Given the description of an element on the screen output the (x, y) to click on. 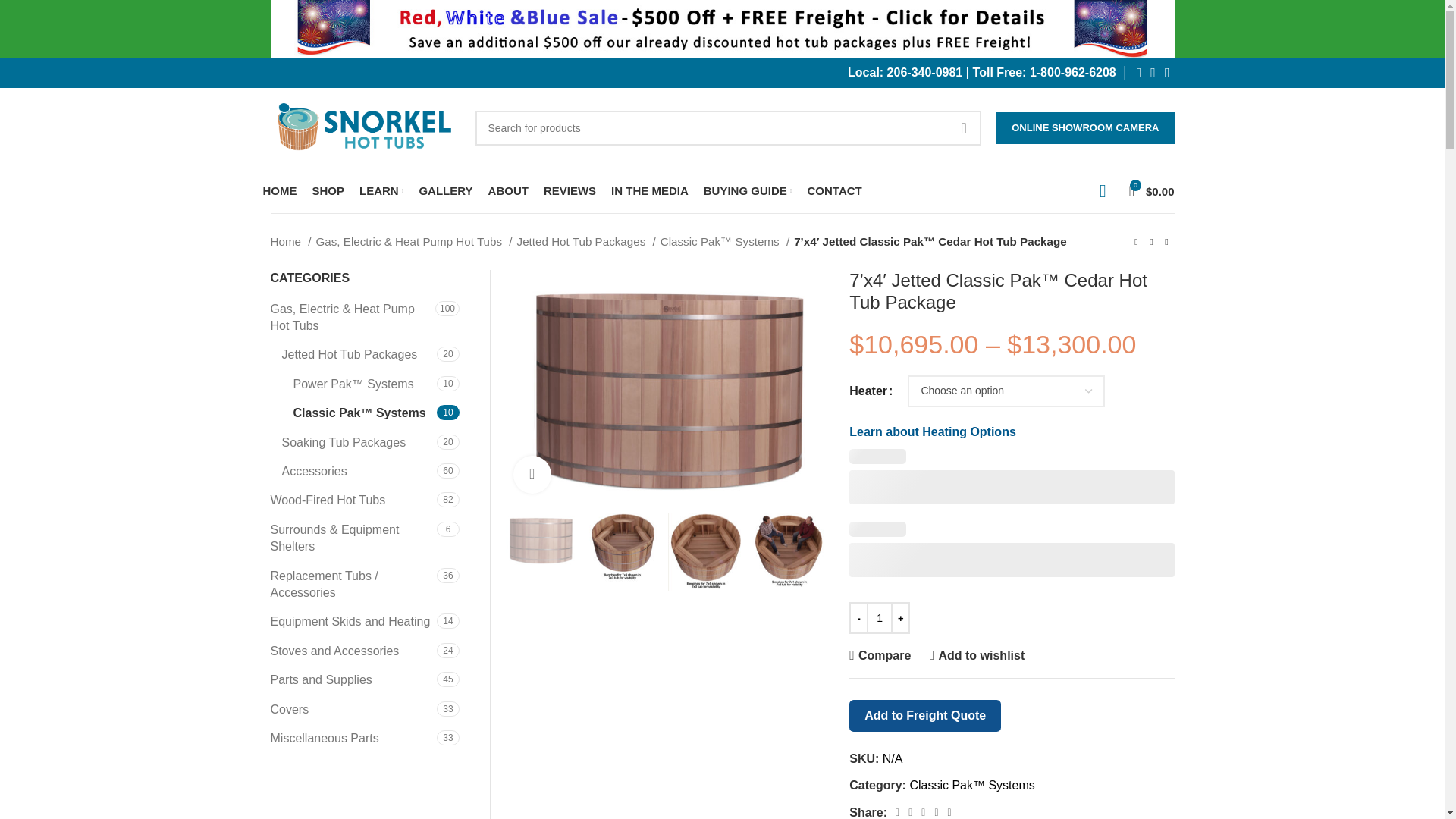
ONLINE SHOWROOM CAMERA (1084, 128)
1-800-962-6208 (1072, 72)
REVIEWS (569, 191)
LEARN (381, 191)
IN THE MEDIA (649, 191)
t740 (664, 387)
Shopping cart (1151, 191)
Search for products (727, 127)
ABOUT (507, 191)
HOME (279, 191)
GALLERY (445, 191)
SHOP (329, 191)
BUYING GUIDE (747, 191)
SEARCH (963, 127)
206-340-0981 (924, 72)
